Given the description of an element on the screen output the (x, y) to click on. 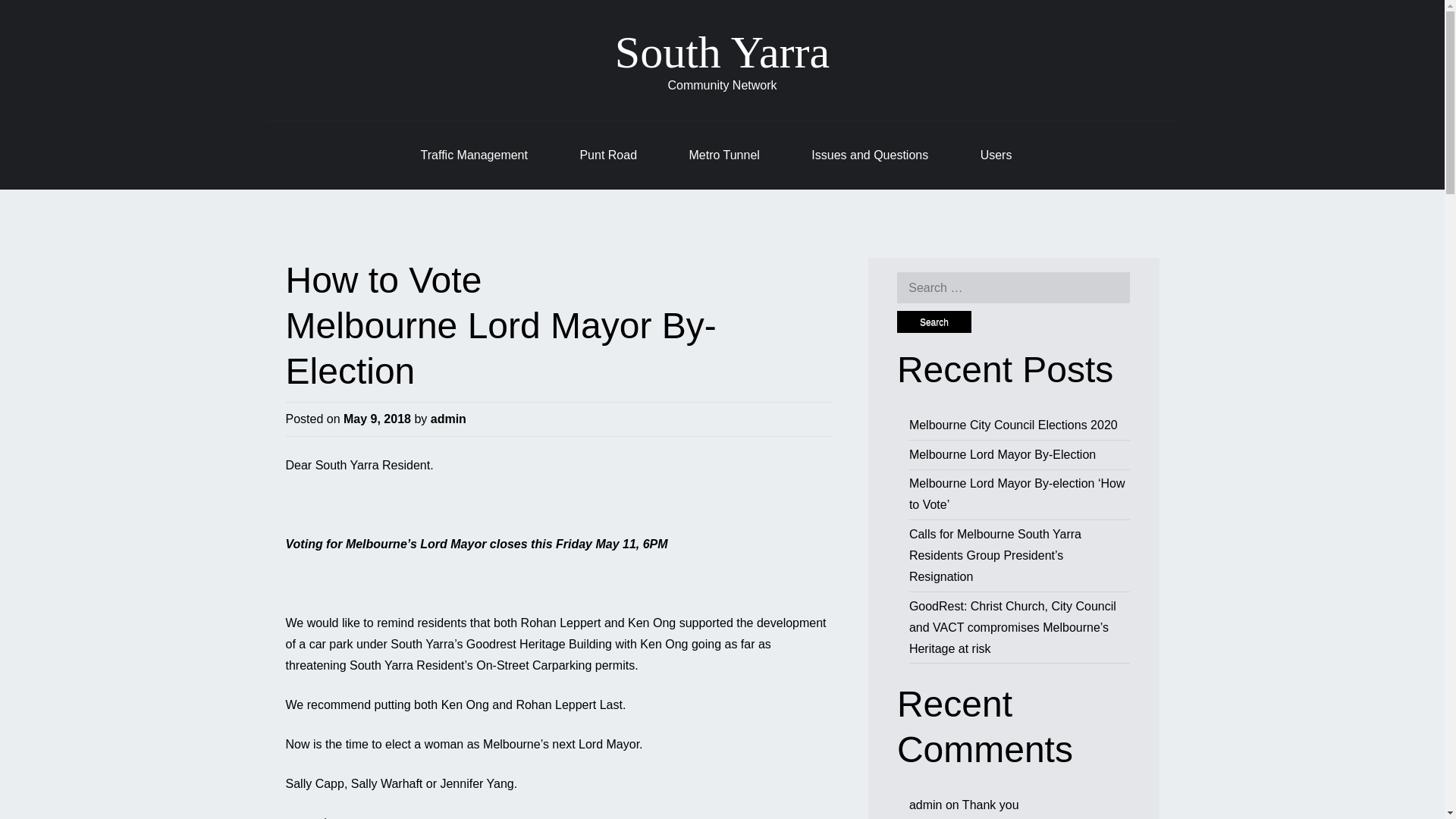
South Yarra (721, 51)
Search (933, 321)
Traffic Management (473, 155)
Issues and Questions (869, 155)
Skip to content (306, 145)
South Yarra (721, 51)
May 9, 2018 (376, 418)
Users (995, 155)
Punt Road (608, 155)
admin (447, 418)
07:52 (376, 418)
Search for: (1012, 286)
Skip to content (306, 145)
Melbourne Lord Mayor By-Election (500, 348)
Search (933, 321)
